Given the description of an element on the screen output the (x, y) to click on. 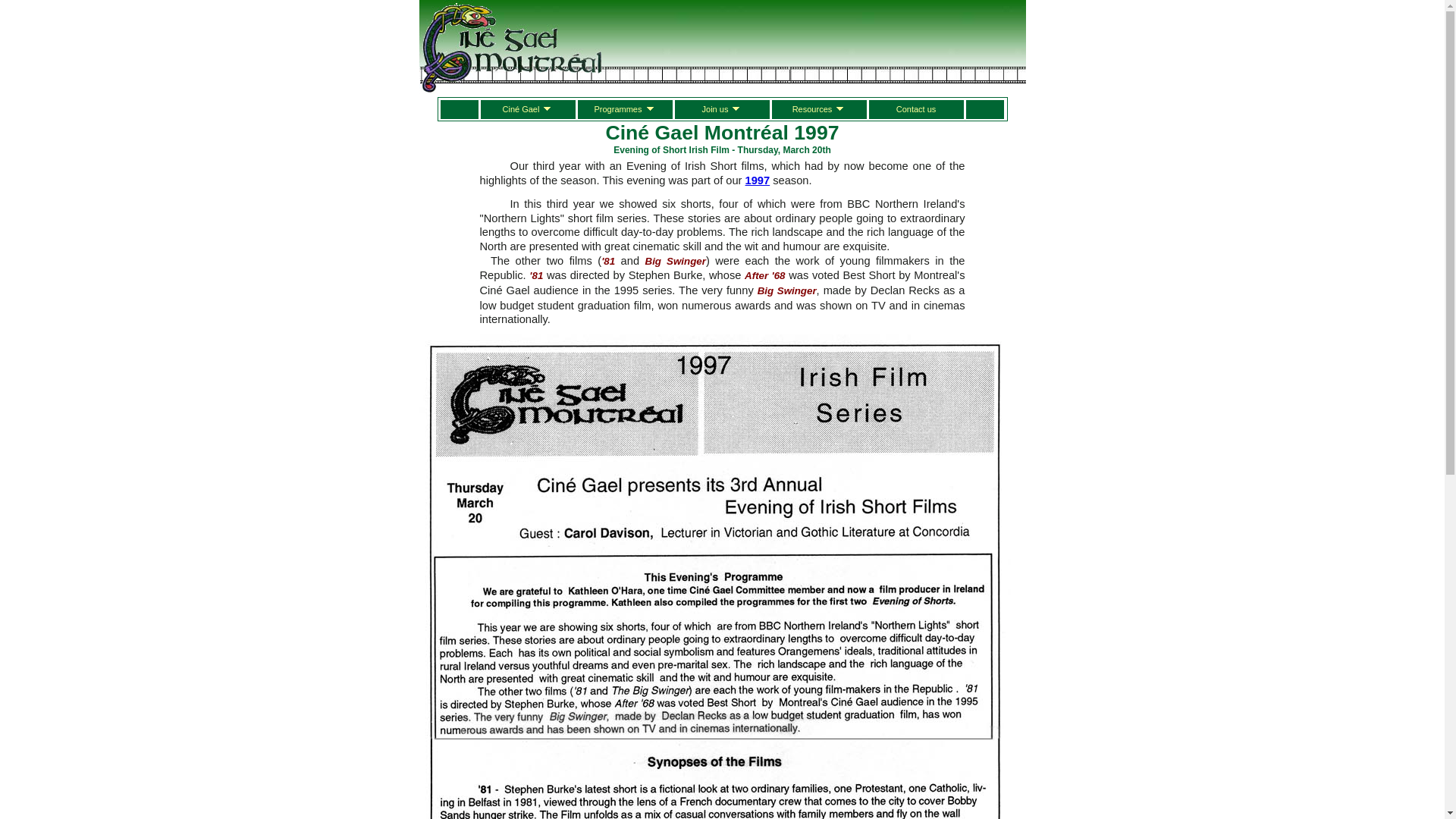
Programmes (625, 108)
